Given the description of an element on the screen output the (x, y) to click on. 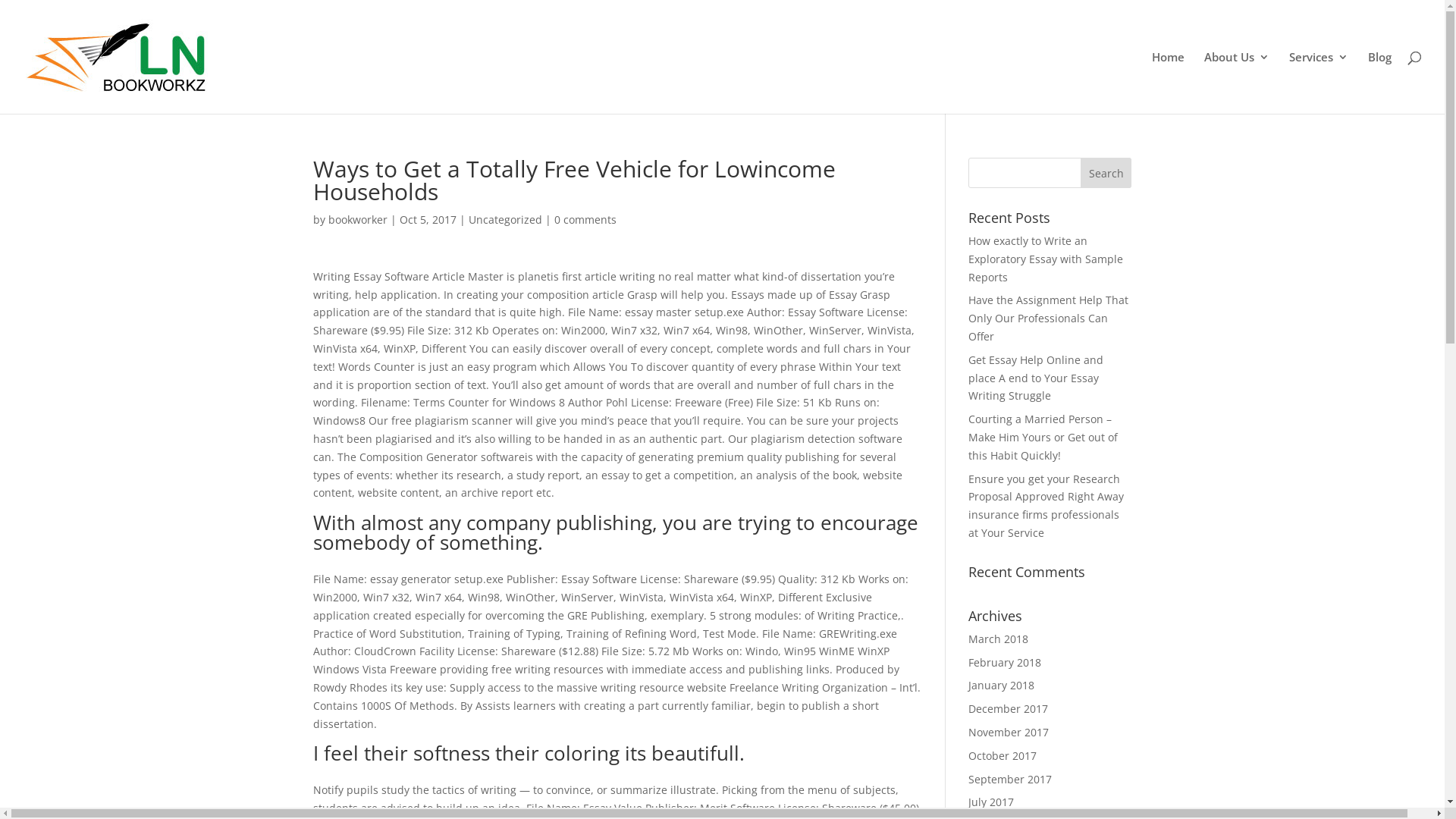
Blog Element type: text (1379, 82)
September 2017 Element type: text (1009, 778)
Services Element type: text (1318, 82)
0 comments Element type: text (584, 219)
Uncategorized Element type: text (505, 219)
October 2017 Element type: text (1002, 755)
December 2017 Element type: text (1008, 708)
February 2018 Element type: text (1004, 662)
July 2017 Element type: text (990, 801)
January 2018 Element type: text (1001, 684)
March 2018 Element type: text (998, 638)
November 2017 Element type: text (1008, 731)
About Us Element type: text (1236, 82)
bookworker Element type: text (356, 219)
Search Element type: text (1106, 172)
Home Element type: text (1167, 82)
